Given the description of an element on the screen output the (x, y) to click on. 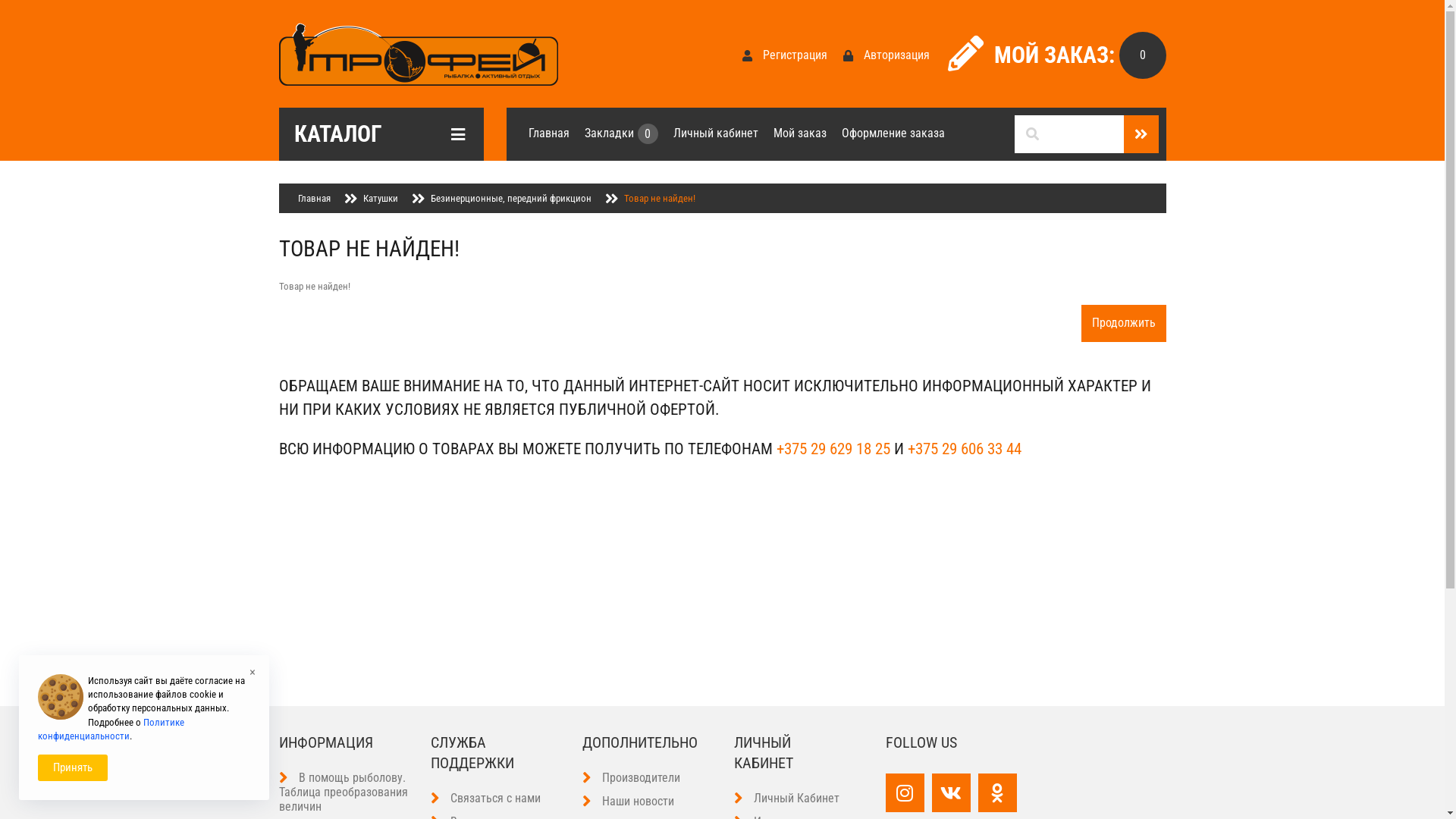
+375 29 606 33 44 Element type: text (963, 448)
+375 29 629 18 25 Element type: text (833, 448)
